Given the description of an element on the screen output the (x, y) to click on. 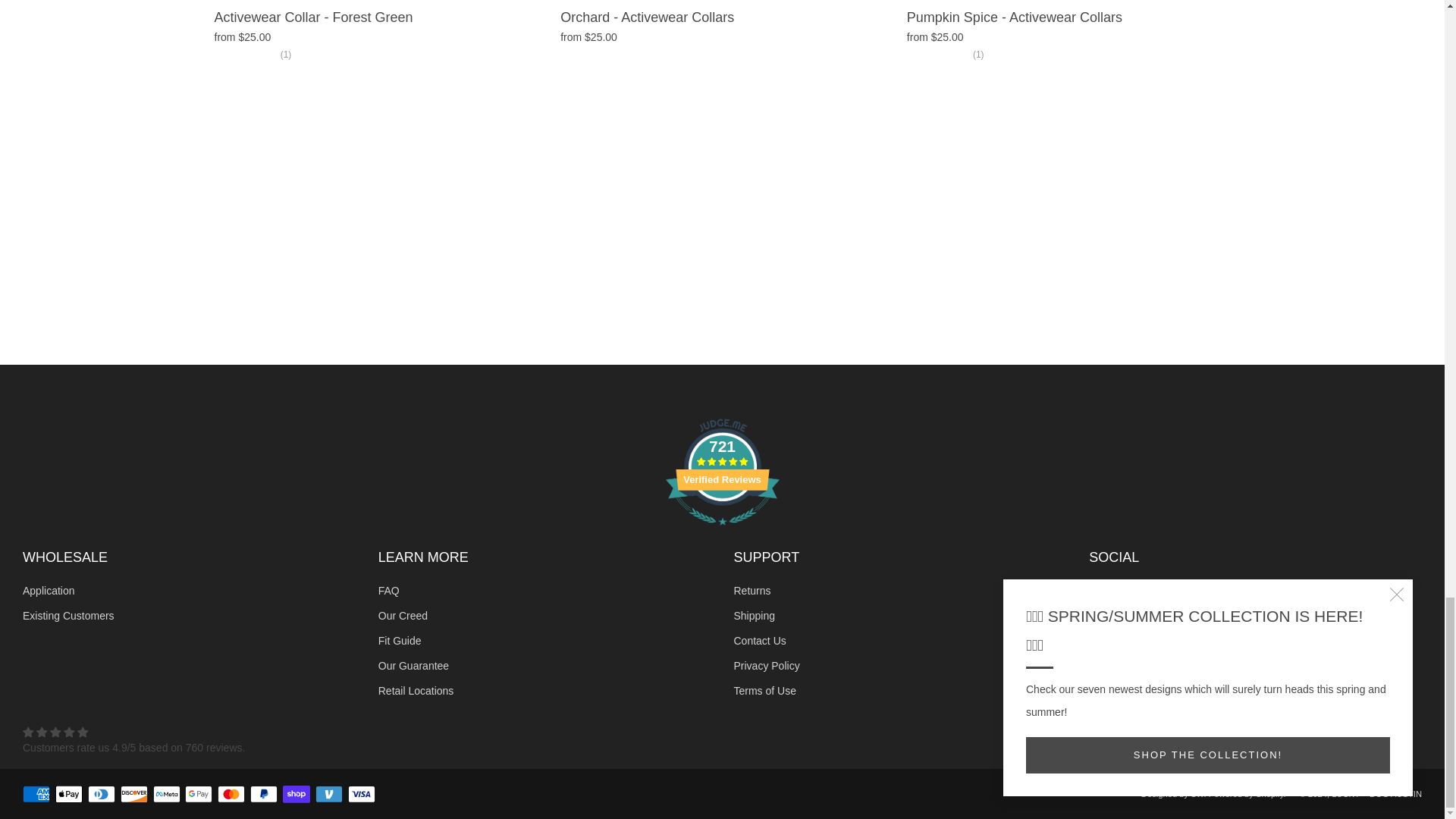
Pumpkin Spice - Activewear Collars (1068, 17)
Orchard - Activewear Collars (721, 17)
Activewear Collar - Forest Green (376, 17)
Activewear Collar - Forest Green (376, 48)
Orchard - Activewear Collars (721, 36)
Pumpkin Spice - Activewear Collars (1068, 48)
Designed by Stephen's World (1172, 793)
